Given the description of an element on the screen output the (x, y) to click on. 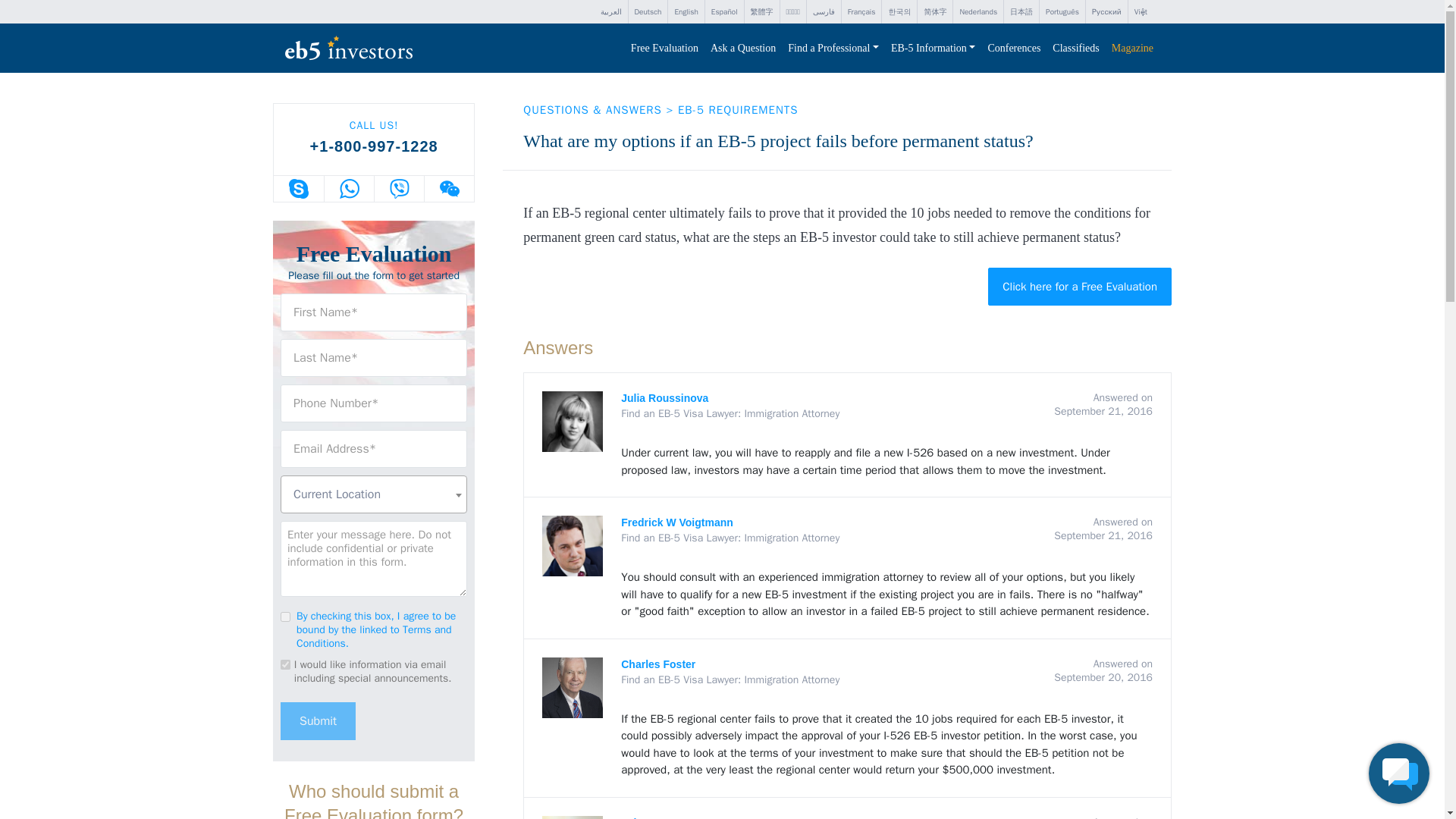
Find a Professional (833, 48)
Find a Professional (833, 48)
Deutsch (646, 11)
Nederlands (978, 11)
Free Evaluation (664, 48)
1 (285, 616)
EB-5 Information (933, 48)
Ask a Question (742, 48)
Ask a Question (742, 48)
Submit (318, 720)
English (685, 11)
Free Evaluation (664, 48)
